Given the description of an element on the screen output the (x, y) to click on. 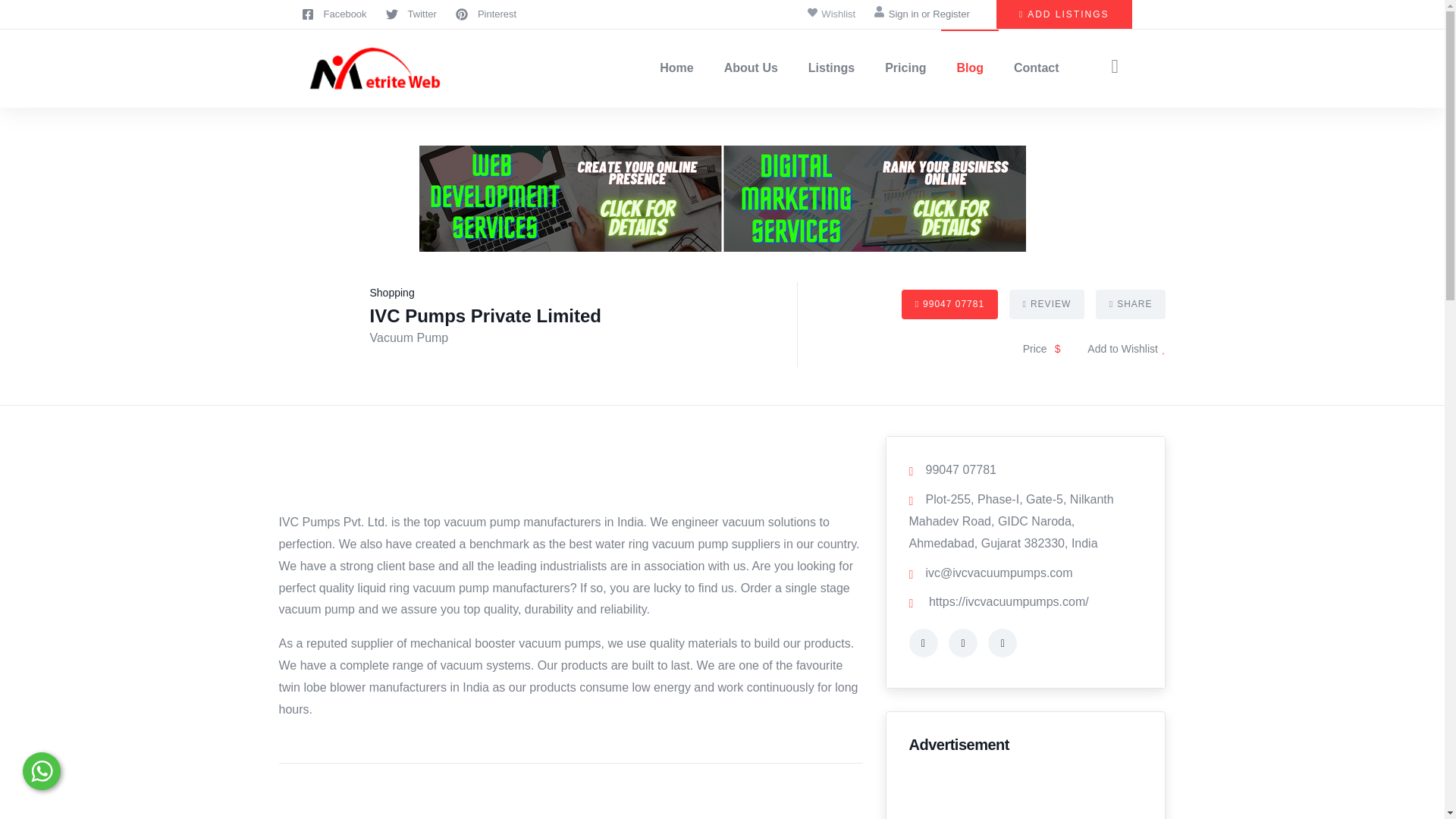
Contact (1036, 68)
Twitter (410, 14)
REVIEW (1046, 304)
About Us (751, 68)
Register (951, 13)
Advertisement (1024, 794)
Advertisement (571, 812)
SHARE (1131, 304)
Facebook (333, 14)
99047 07781 (949, 304)
Shopping (391, 292)
ADD LISTINGS (1063, 14)
Listings (831, 68)
Home (352, 68)
Pricing (904, 68)
